Given the description of an element on the screen output the (x, y) to click on. 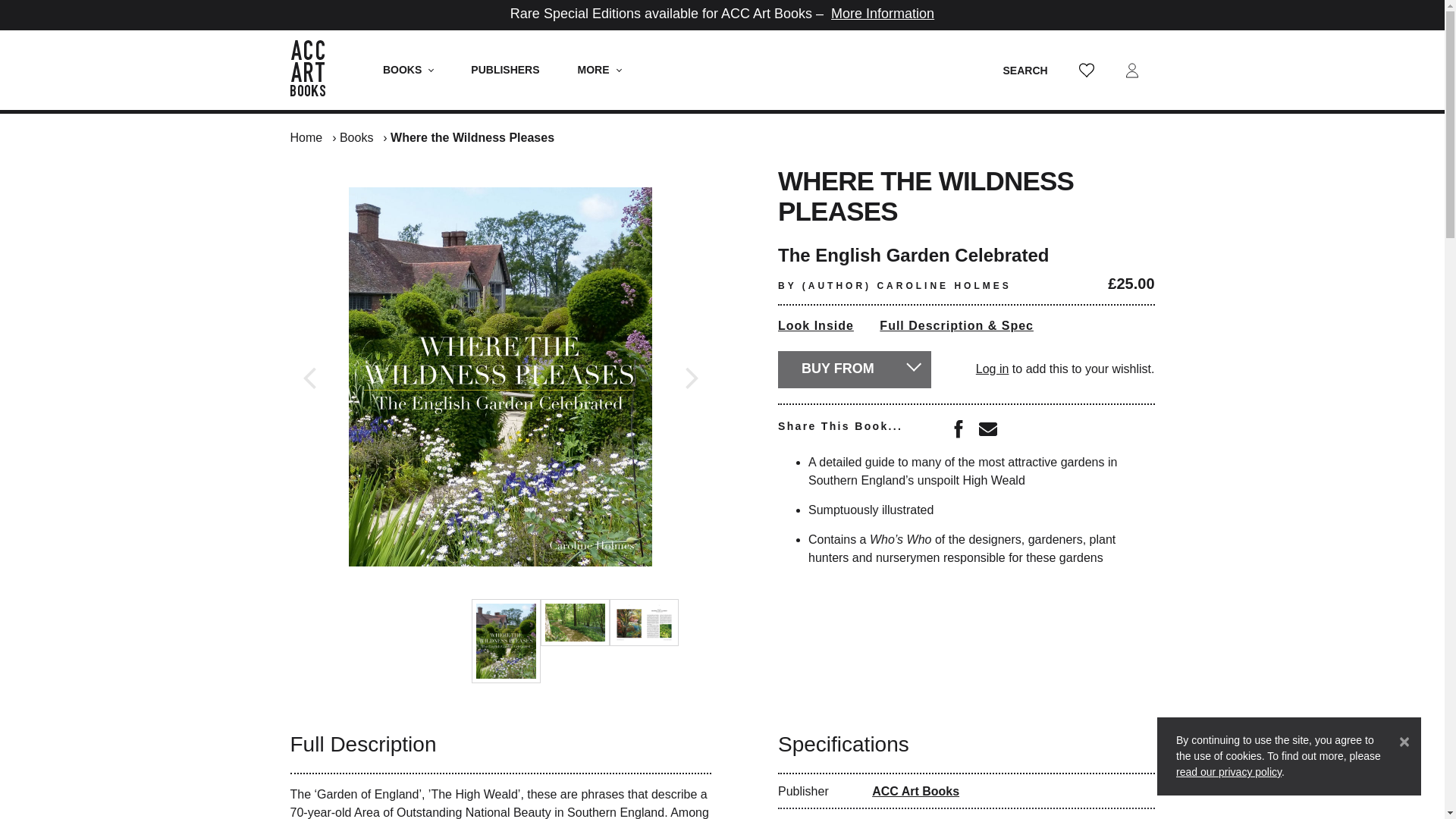
PUBLISHERS (504, 69)
BOOKS (407, 69)
More Information (882, 13)
MORE (599, 69)
ACC Art Books UK (315, 69)
